Given the description of an element on the screen output the (x, y) to click on. 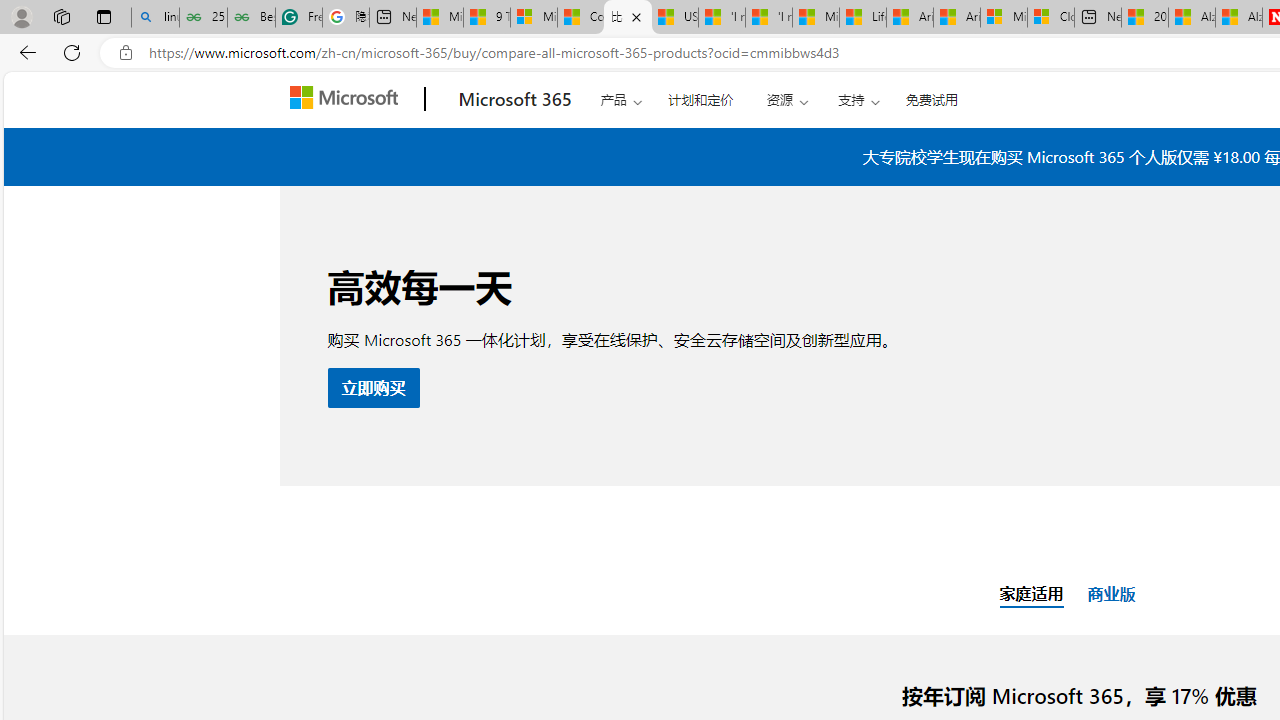
linux basic - Search (155, 17)
Lifestyle - MSN (862, 17)
